Given the description of an element on the screen output the (x, y) to click on. 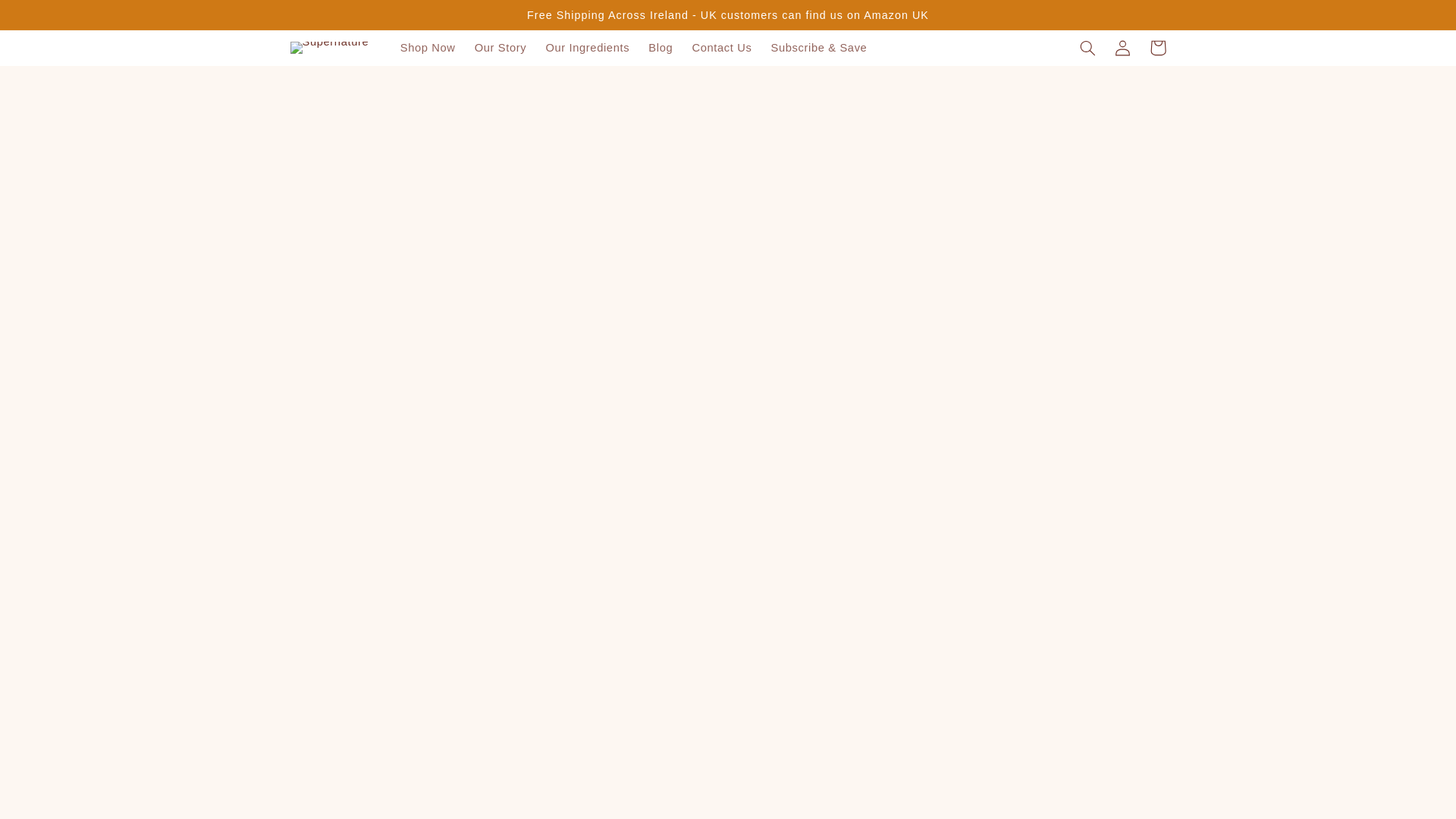
Skip to content (48, 18)
Shop Now (427, 47)
Our Ingredients (587, 47)
Our Story (499, 47)
Blog (660, 47)
Contact Us (721, 47)
Cart (1157, 47)
Log in (1122, 47)
